Given the description of an element on the screen output the (x, y) to click on. 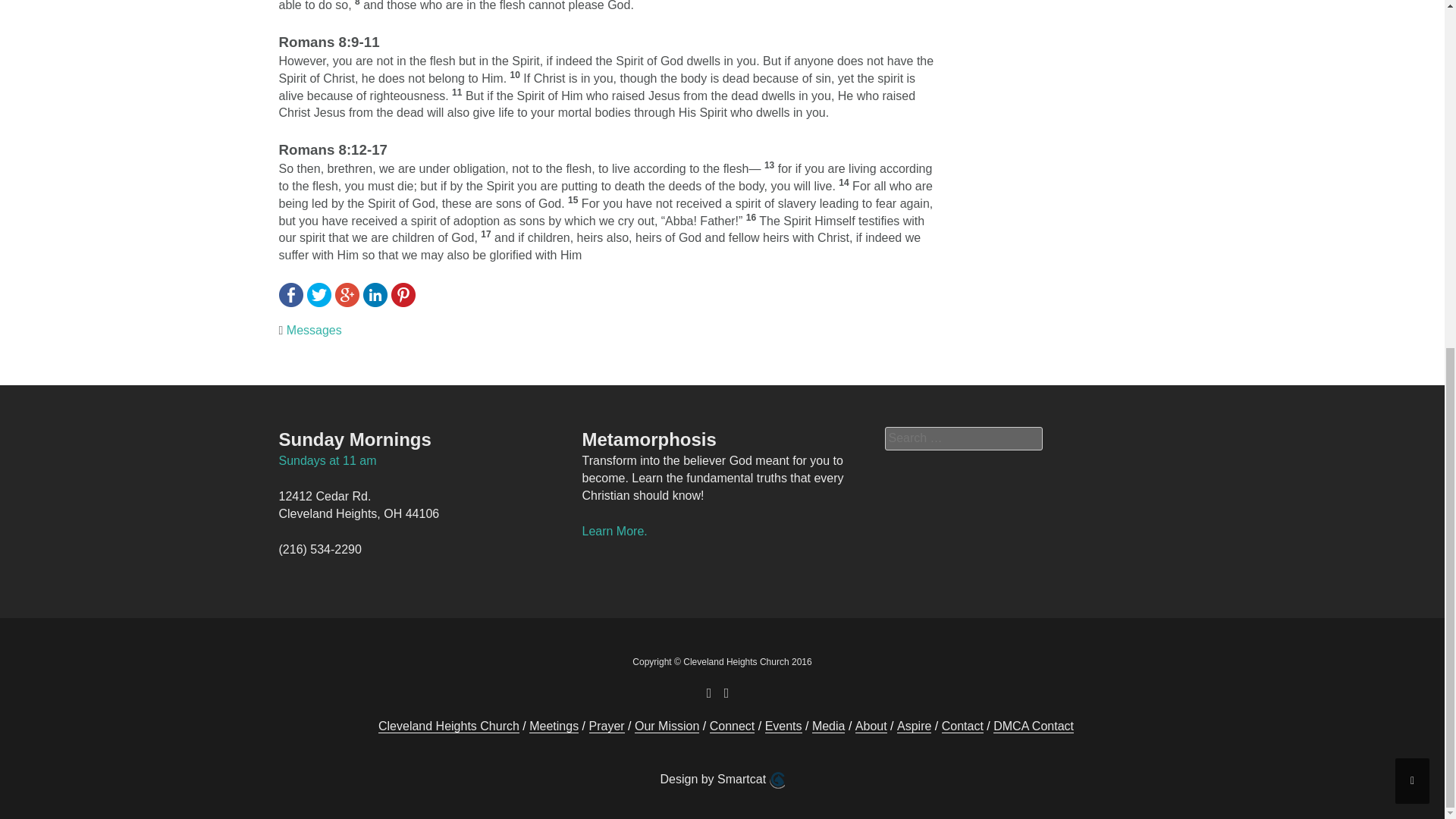
Messages (314, 329)
Sundays at 11 am (328, 460)
Learn More. (613, 530)
